Given the description of an element on the screen output the (x, y) to click on. 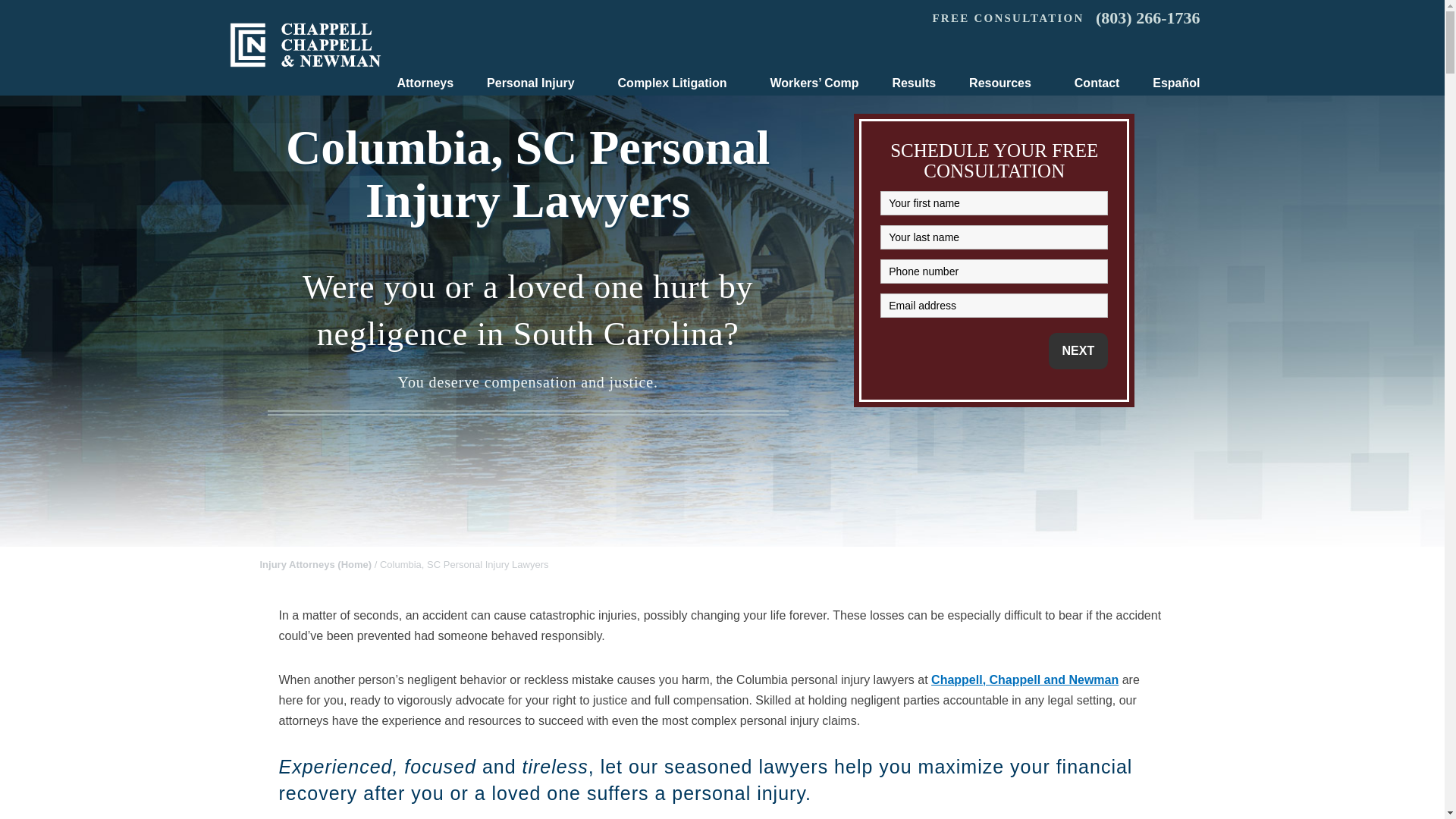
Resources (1005, 83)
Contact (1097, 83)
Personal Injury (535, 83)
Results (913, 83)
Attorneys (424, 83)
Next (1078, 350)
Complex Litigation (677, 83)
